Given the description of an element on the screen output the (x, y) to click on. 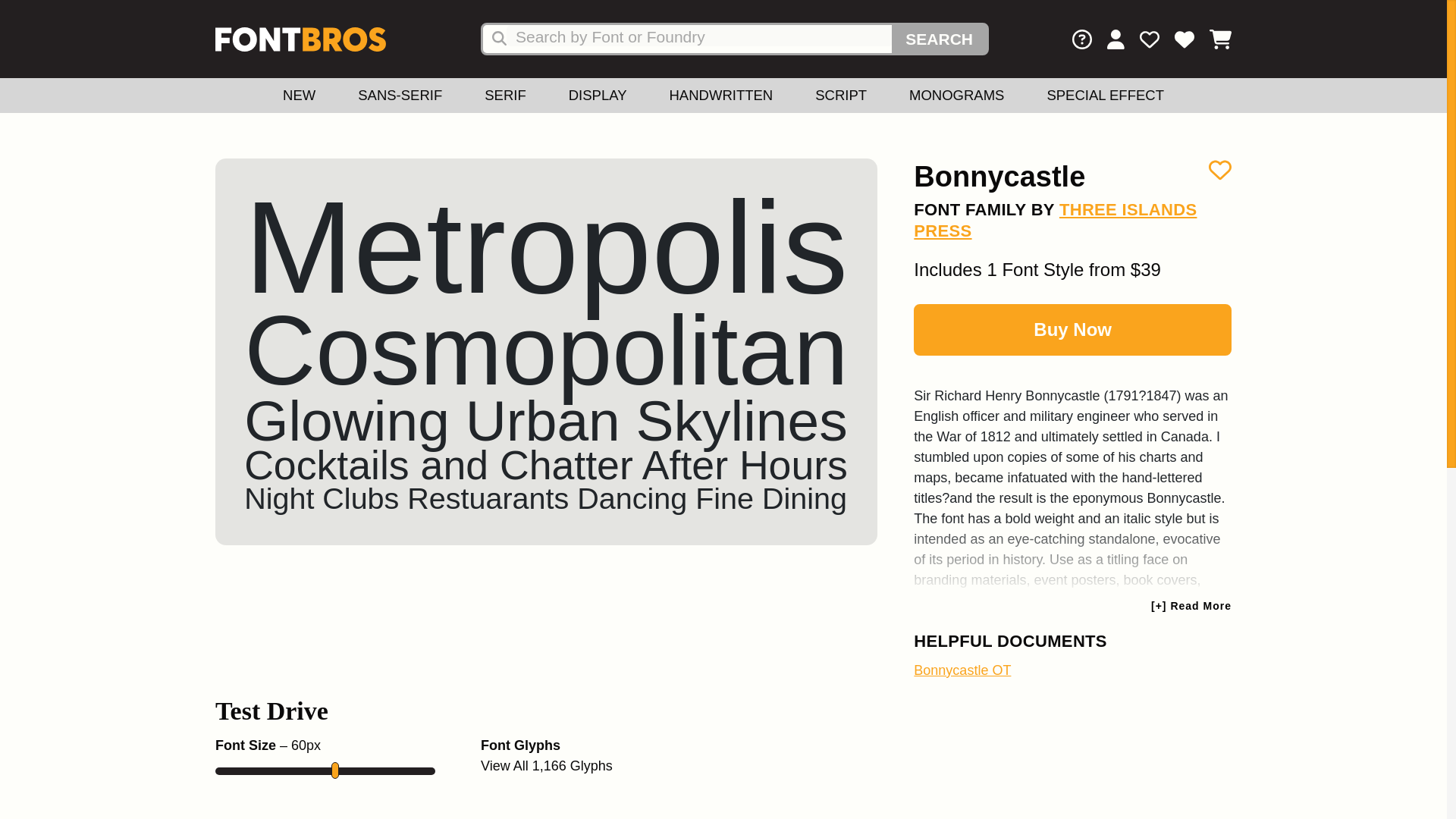
View Your Shopping Cart (1212, 42)
THREE ISLANDS PRESS (1055, 219)
HANDWRITTEN (720, 95)
View All 1,166 Glyphs (546, 765)
60 (325, 770)
NEW (299, 95)
Bonnycastle OT (962, 670)
DISPLAY (597, 95)
FAQs (1081, 42)
View Your Account (1108, 42)
